Given the description of an element on the screen output the (x, y) to click on. 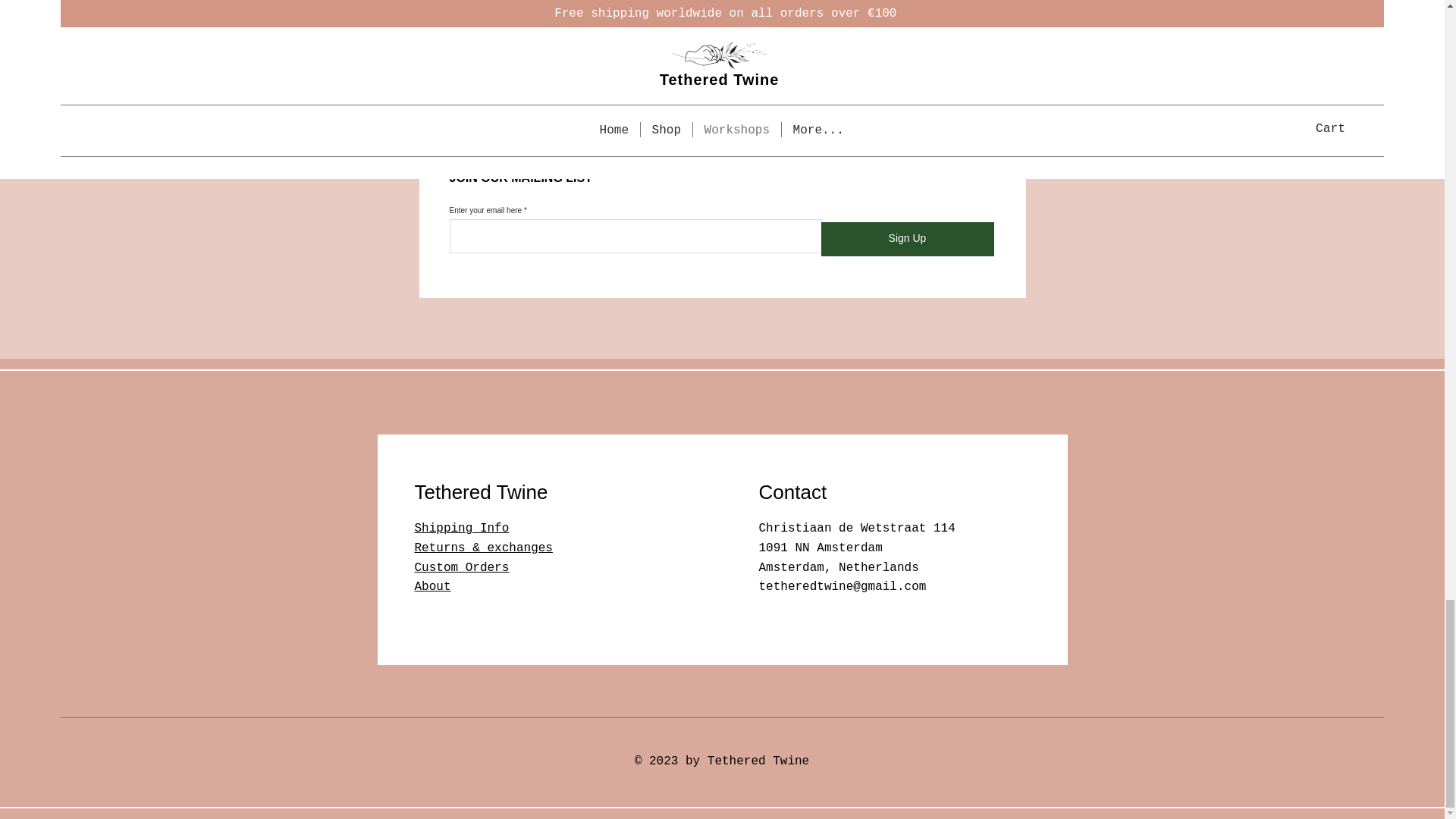
Custom Orders (460, 567)
Read More (708, 9)
Sign Up (906, 238)
Shipping Info (460, 528)
About (431, 586)
